Given the description of an element on the screen output the (x, y) to click on. 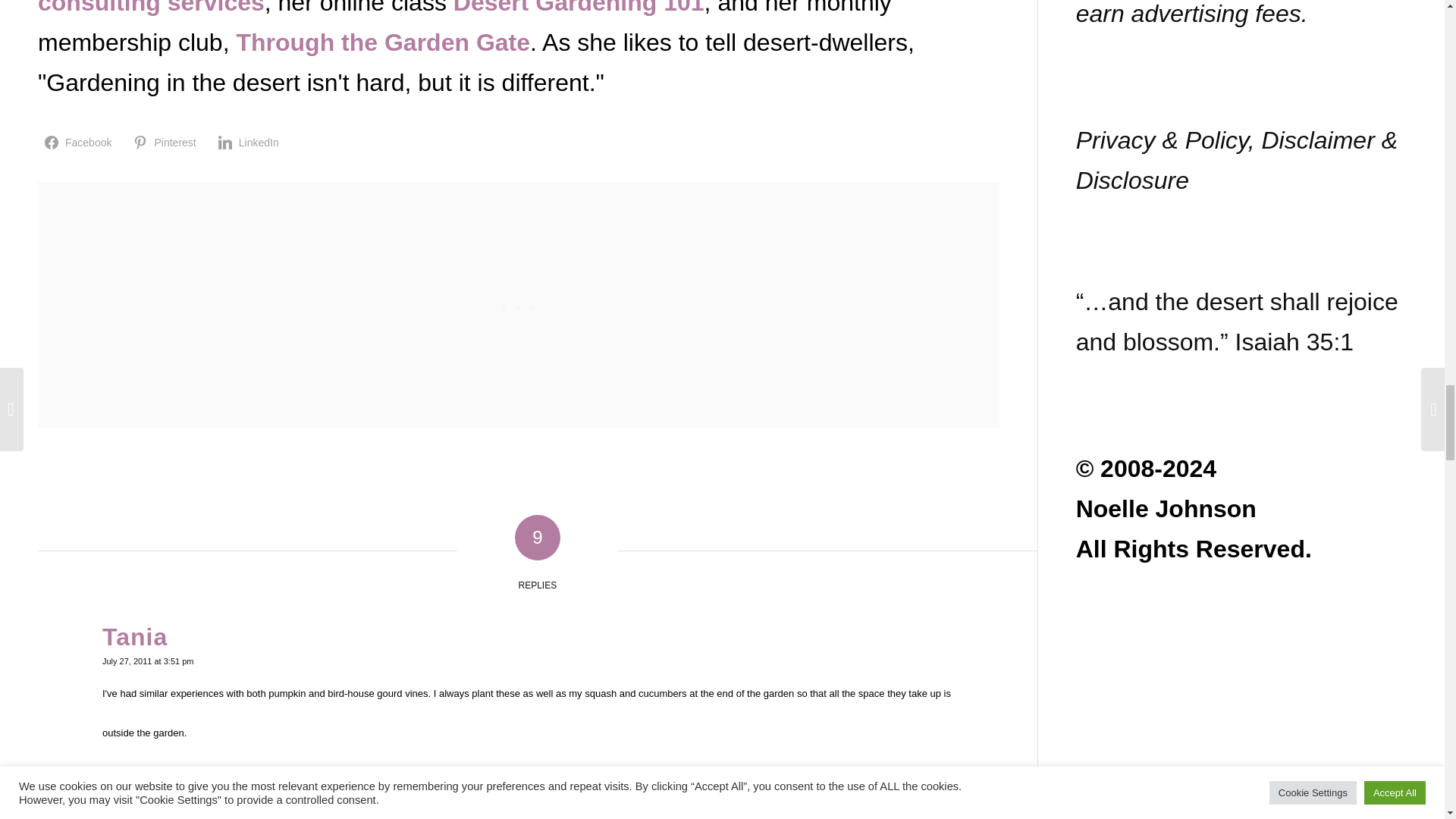
Share on Facebook (79, 141)
Facebook (79, 141)
July 27, 2011 at 3:51 pm (147, 660)
Through the Garden Gate (382, 42)
Share on Pinterest (166, 141)
Jan at Love It (184, 816)
Tania (134, 636)
Desert Gardening 101 (578, 7)
Pinterest (166, 141)
Share on LinkedIn (250, 141)
